Given the description of an element on the screen output the (x, y) to click on. 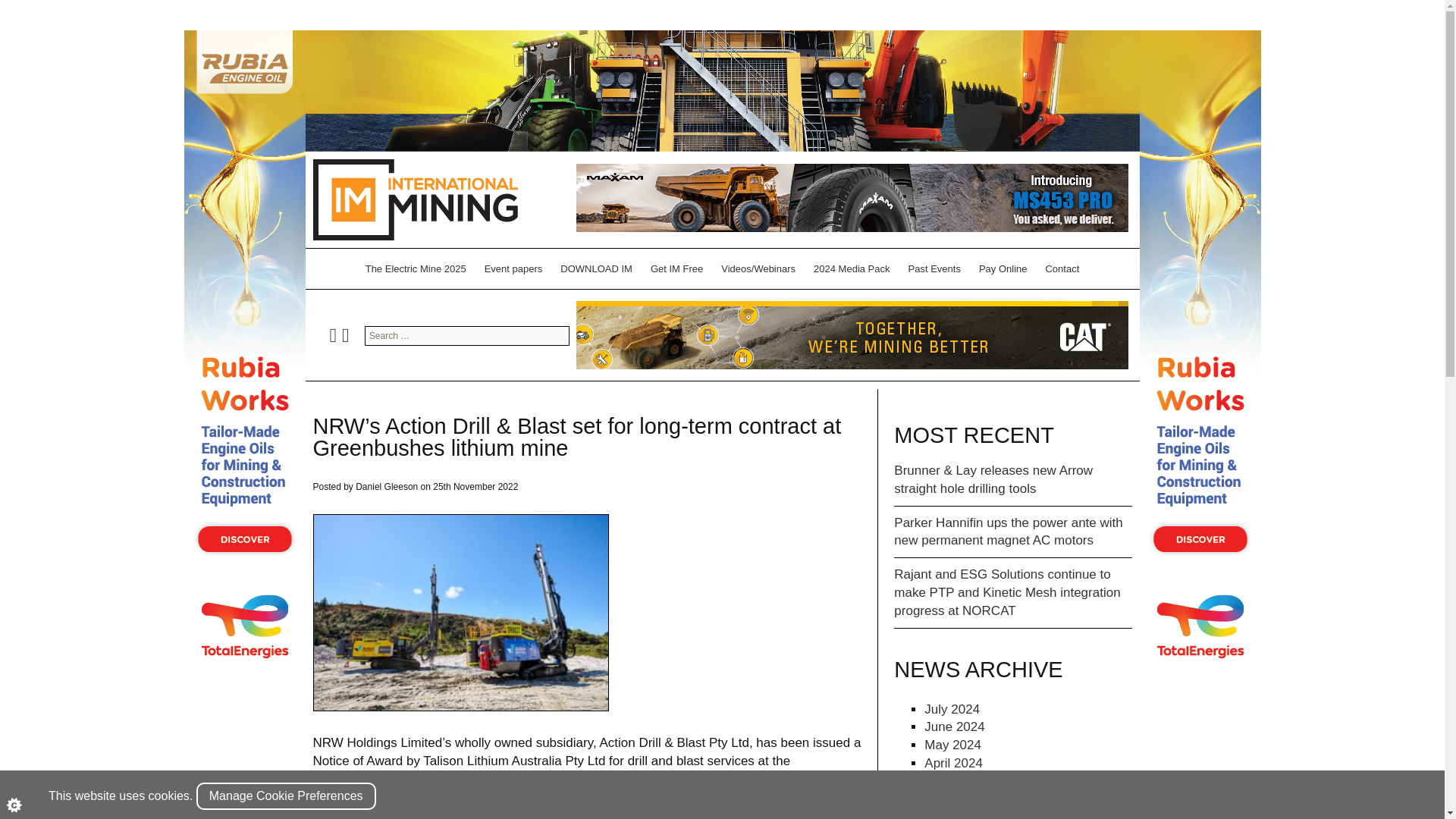
Event papers (513, 268)
June 2024 (954, 726)
July 2024 (951, 708)
May 2024 (952, 744)
Past Events (933, 268)
2024 Media Pack (851, 268)
International Mining (414, 199)
Get IM Free (676, 268)
Contact (1062, 268)
DOWNLOAD IM (596, 268)
March 2024 (958, 780)
The Electric Mine 2025 (415, 268)
April 2024 (953, 762)
